Given the description of an element on the screen output the (x, y) to click on. 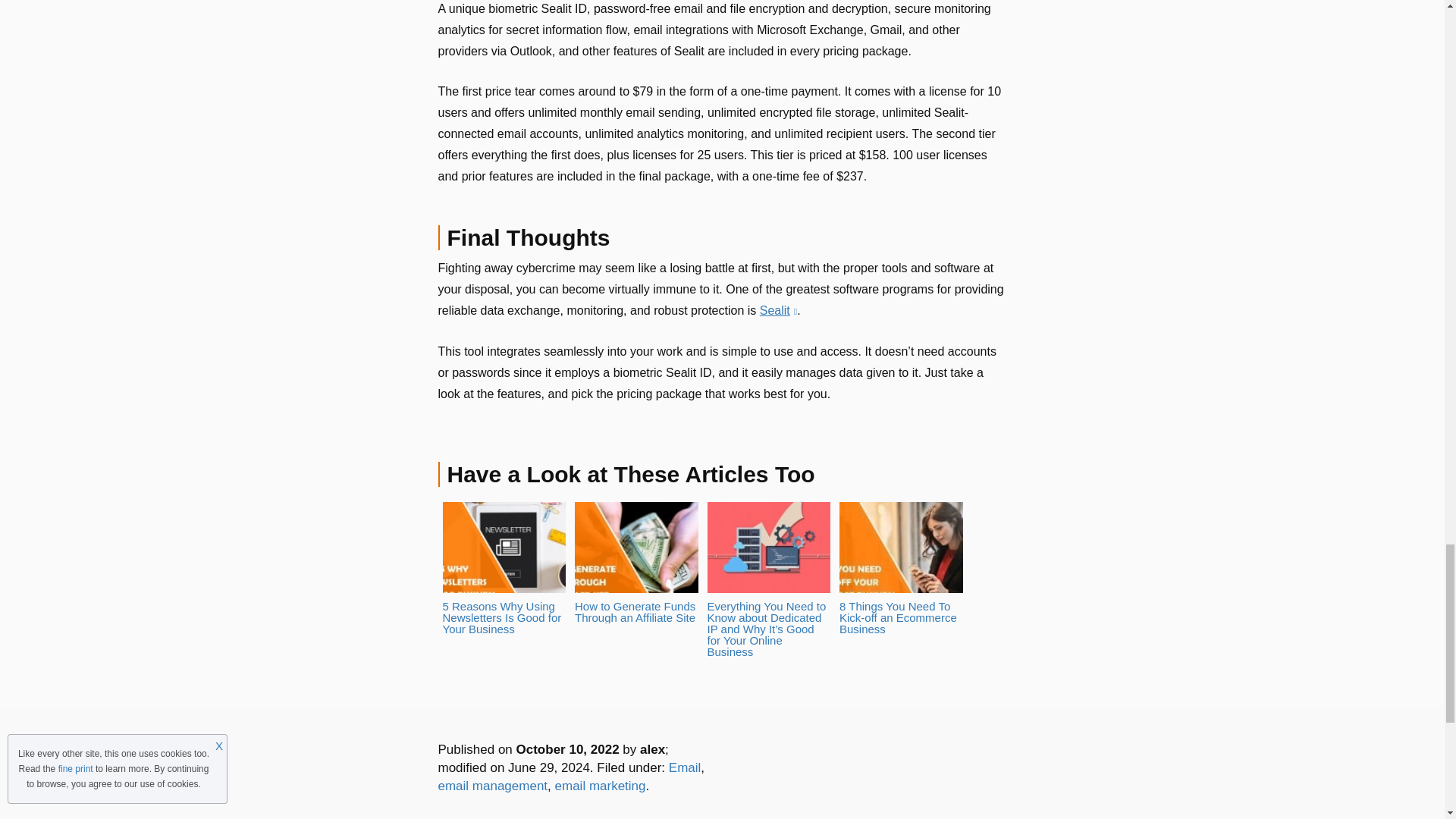
email marketing (600, 785)
8 Things You Need To Kick-off an Ecommerce Business (901, 568)
5 Reasons Why Using Newsletters Is Good for Your Business (504, 568)
How to Generate Funds Through an Affiliate Site (636, 562)
Sealit (778, 309)
Email (684, 767)
email management (493, 785)
